Given the description of an element on the screen output the (x, y) to click on. 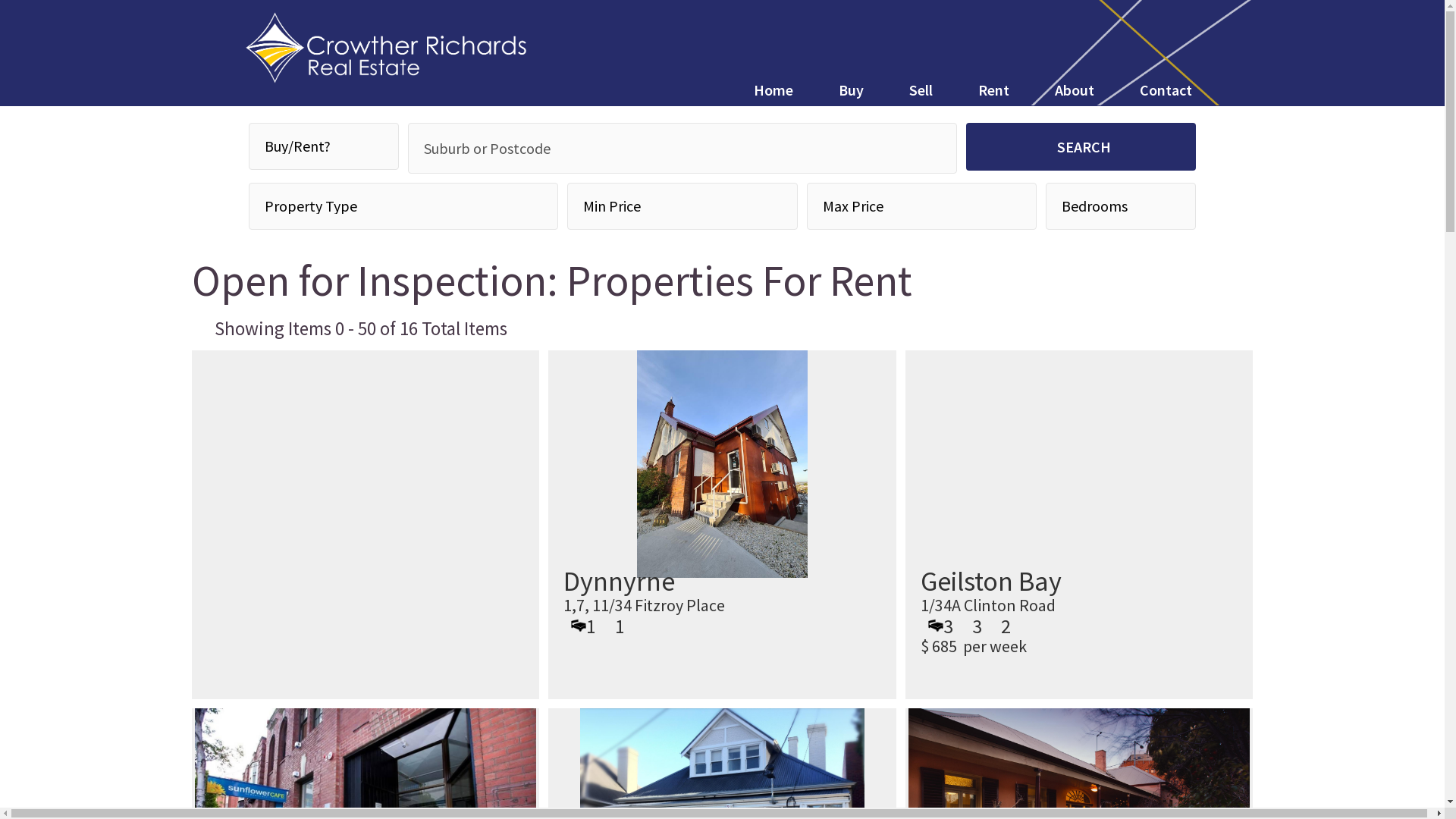
1 1 Element type: text (591, 625)
